Given the description of an element on the screen output the (x, y) to click on. 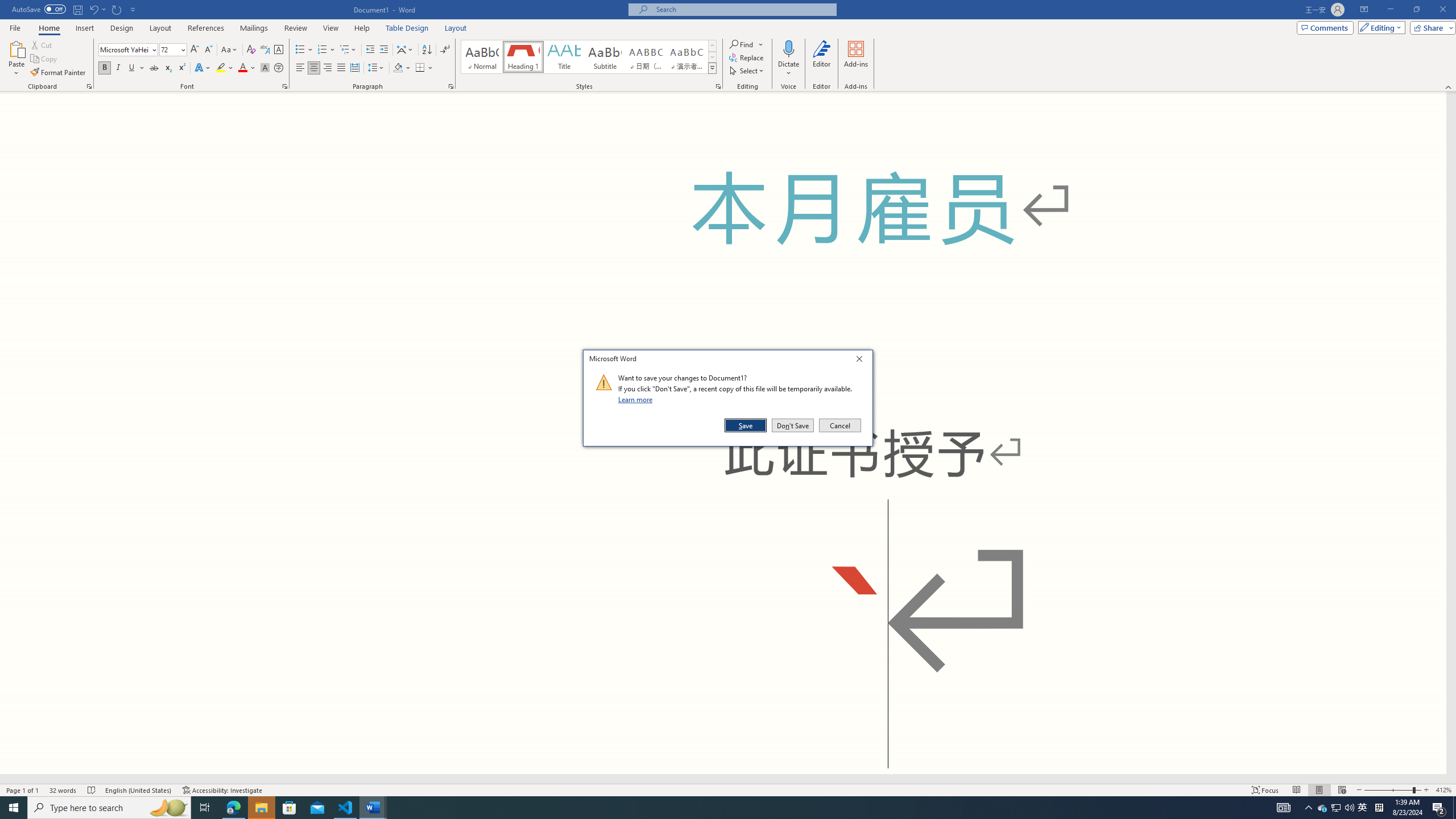
Title (564, 56)
